Given the description of an element on the screen output the (x, y) to click on. 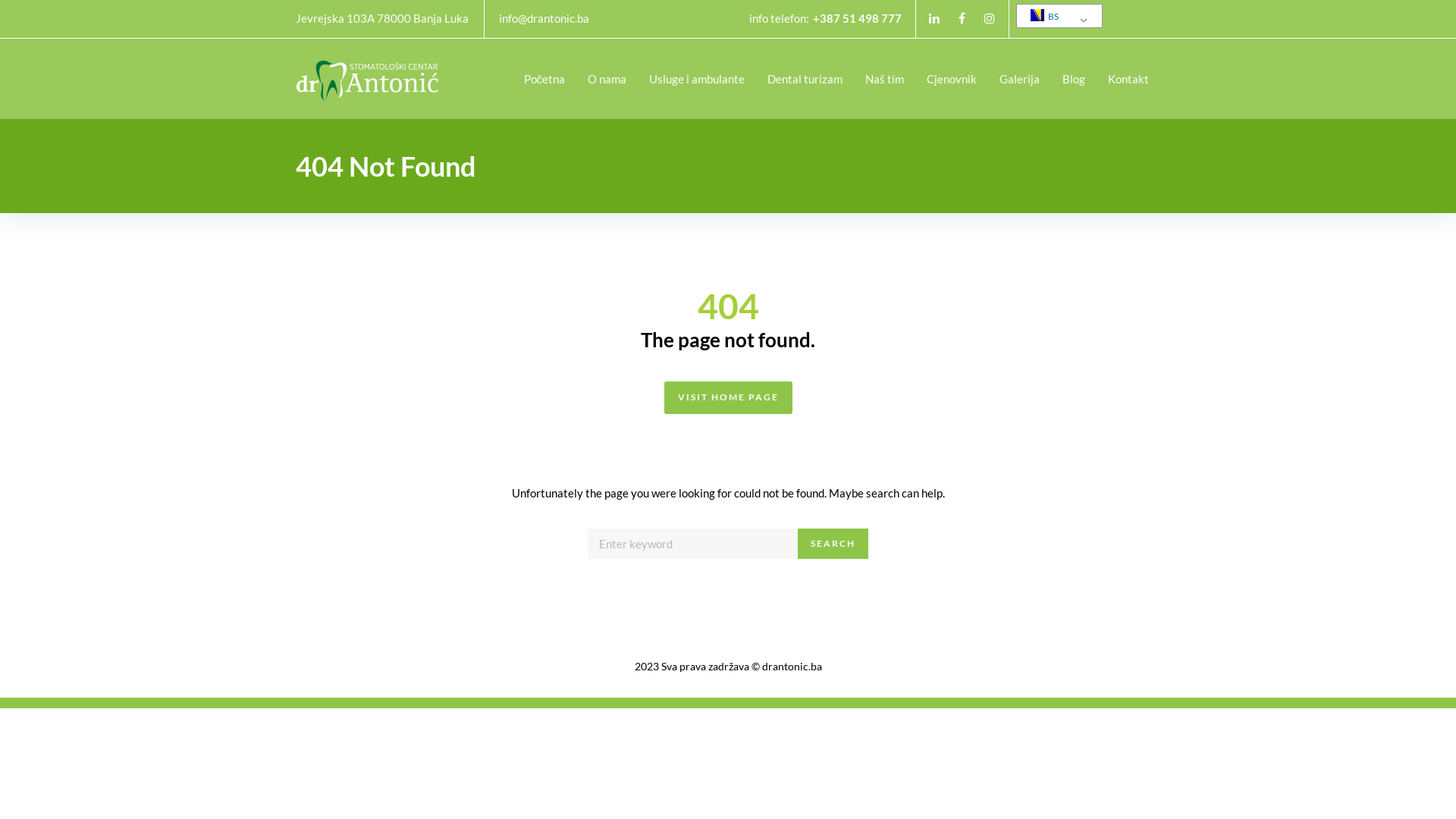
Kontakt Element type: text (1128, 78)
Facebook Element type: text (961, 18)
Cjenovnik Element type: text (951, 78)
+387 51 498 777 Element type: text (856, 18)
O nama Element type: text (606, 78)
VISIT HOME PAGE Element type: text (728, 397)
BS Element type: text (1056, 16)
Usluge i ambulante Element type: text (696, 78)
SEARCH Element type: text (832, 543)
Bosanski Element type: hover (1037, 15)
Linkedin Element type: text (933, 18)
Instagram Element type: text (989, 18)
info@drantonic.ba Element type: text (543, 18)
Galerija Element type: text (1019, 78)
Blog Element type: text (1073, 78)
Dental turizam Element type: text (804, 78)
Search for: Element type: hover (692, 543)
